Given the description of an element on the screen output the (x, y) to click on. 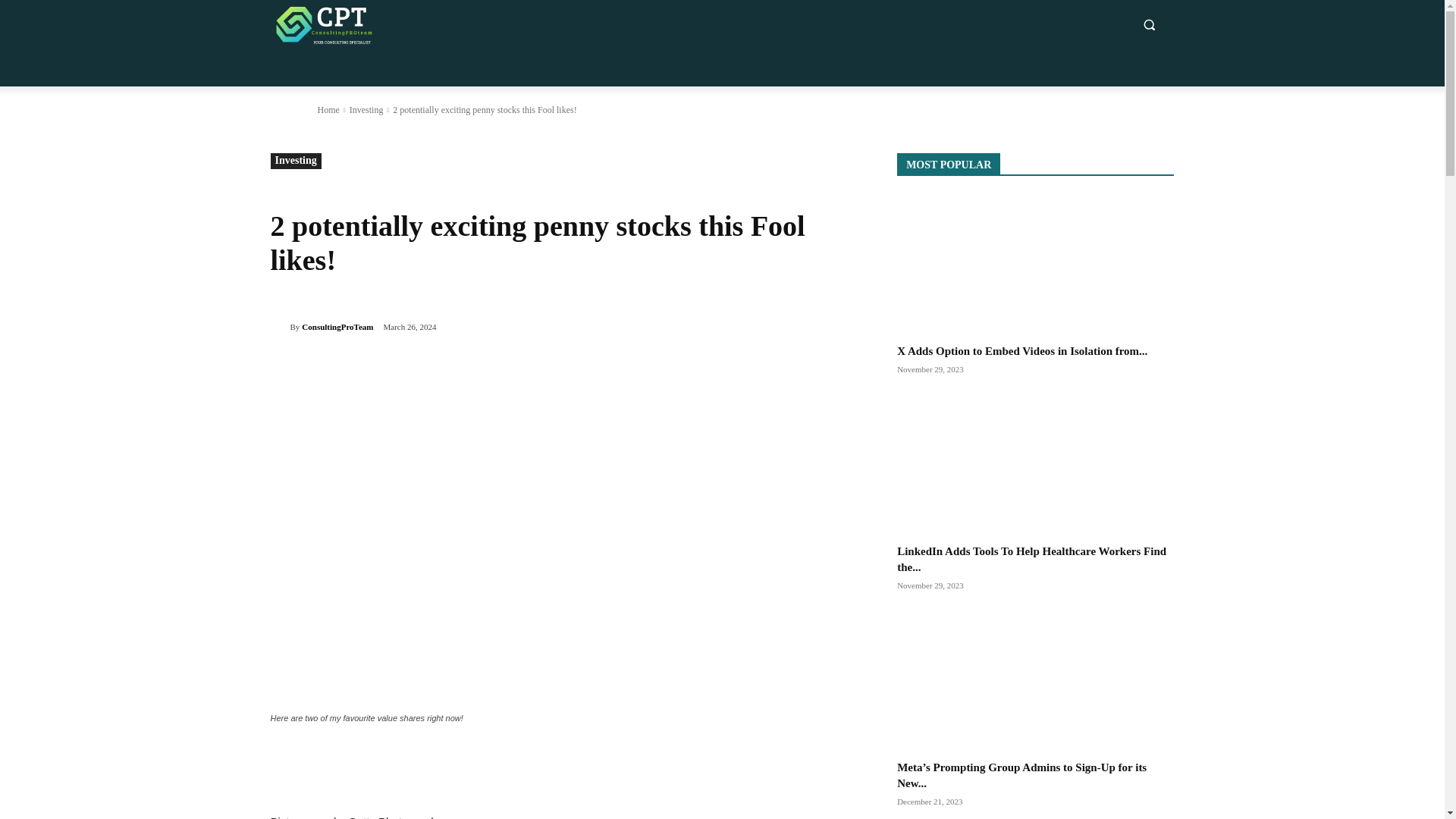
ConsultingProTeam (279, 326)
Home (328, 109)
Investing (294, 160)
Investing (366, 109)
View all posts in Investing (366, 109)
ConsultingProTeam (336, 326)
